Given the description of an element on the screen output the (x, y) to click on. 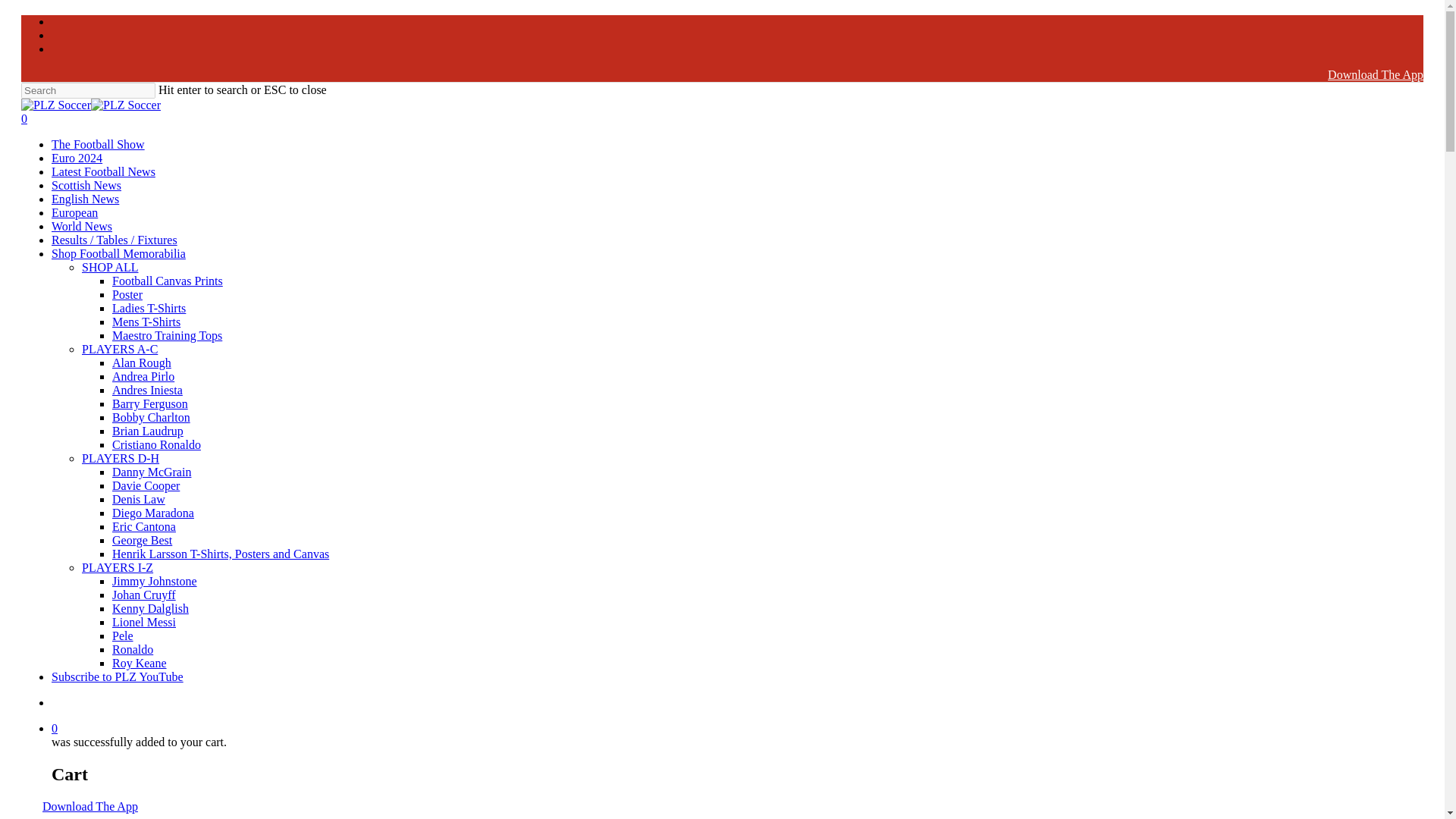
Poster (127, 294)
World News (81, 226)
Eric Cantona (144, 526)
SHOP ALL (109, 267)
Latest Football News (102, 171)
European (73, 212)
Diego Maradona (152, 512)
Euro 2024 (75, 157)
Maestro Training Tops (167, 335)
PLAYERS D-H (119, 458)
